Given the description of an element on the screen output the (x, y) to click on. 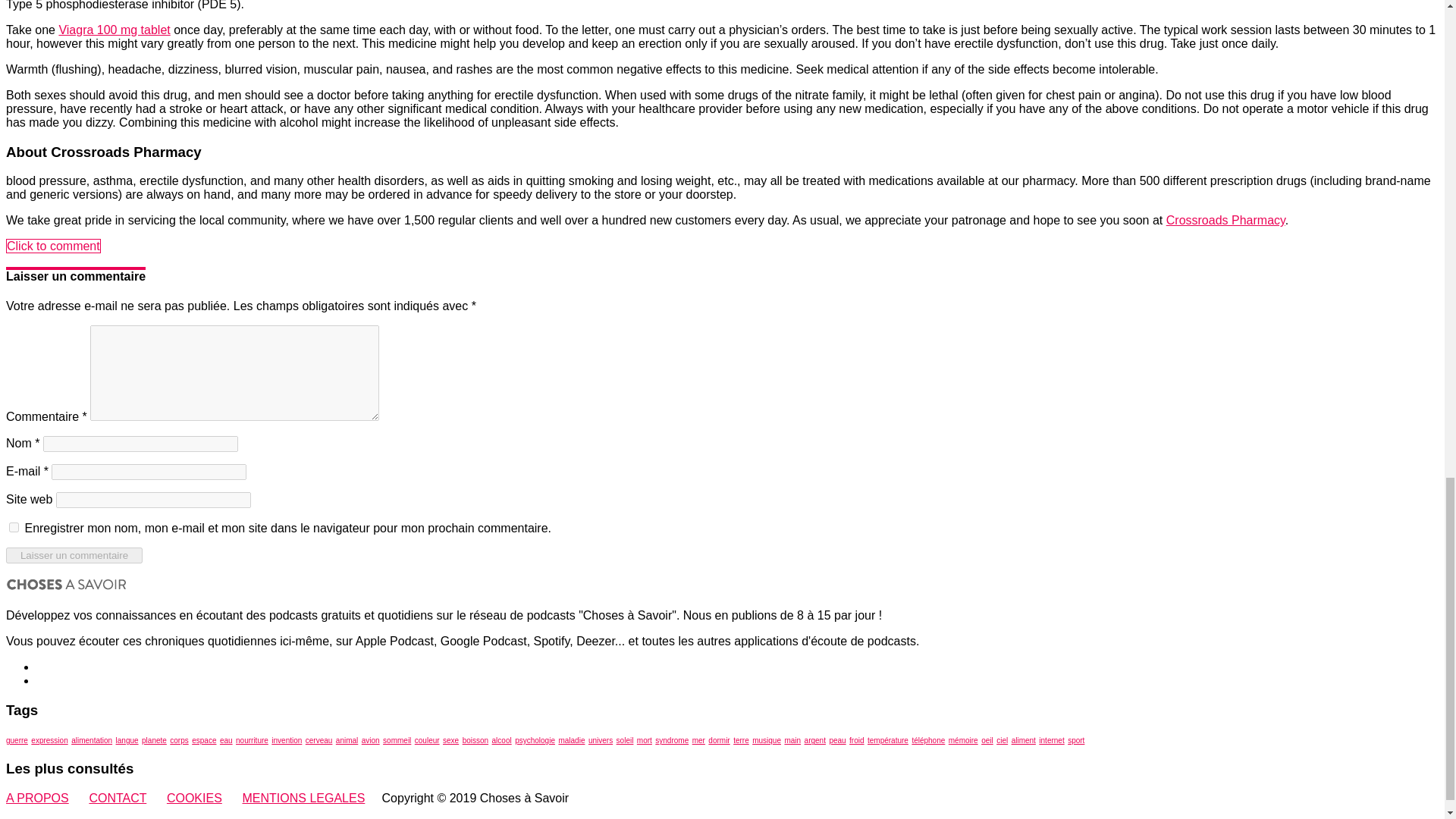
expression (48, 740)
alimentation (91, 740)
guerre (16, 740)
yes (13, 527)
planete (154, 740)
Laisser un commentaire (73, 555)
espace (203, 740)
Crossroads Pharmacy (1225, 219)
Viagra 100 mg tablet (114, 29)
eau (225, 740)
corps (178, 740)
langue (127, 740)
Laisser un commentaire (73, 555)
